Given the description of an element on the screen output the (x, y) to click on. 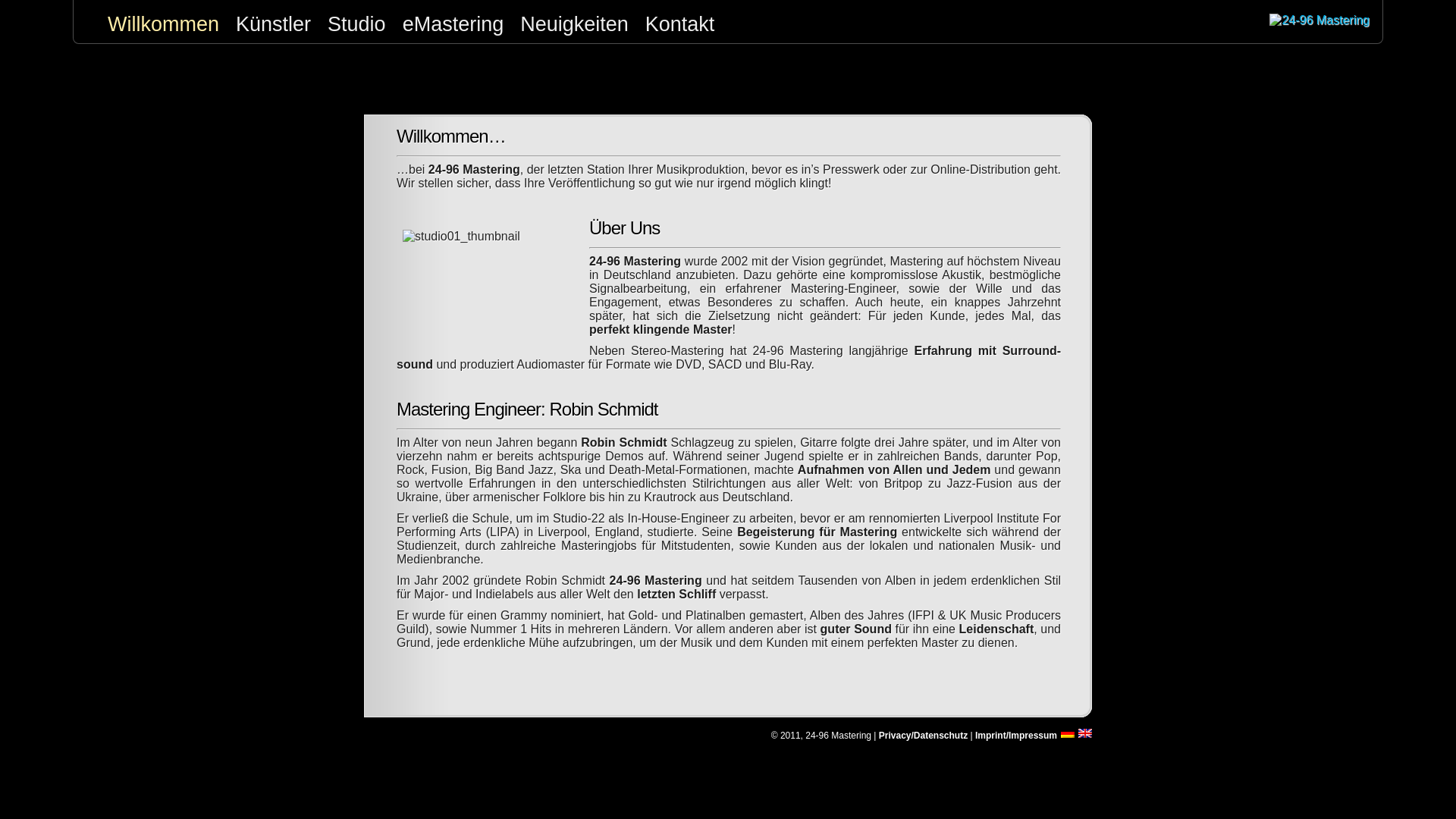
Willkommen Element type: text (163, 24)
Imprint/Impressum Element type: text (1016, 735)
Privacy/Datenschutz Element type: text (922, 735)
eMastering Element type: text (453, 24)
Kontakt Element type: text (680, 24)
Studio Element type: text (356, 24)
Neuigkeiten Element type: text (574, 24)
